Given the description of an element on the screen output the (x, y) to click on. 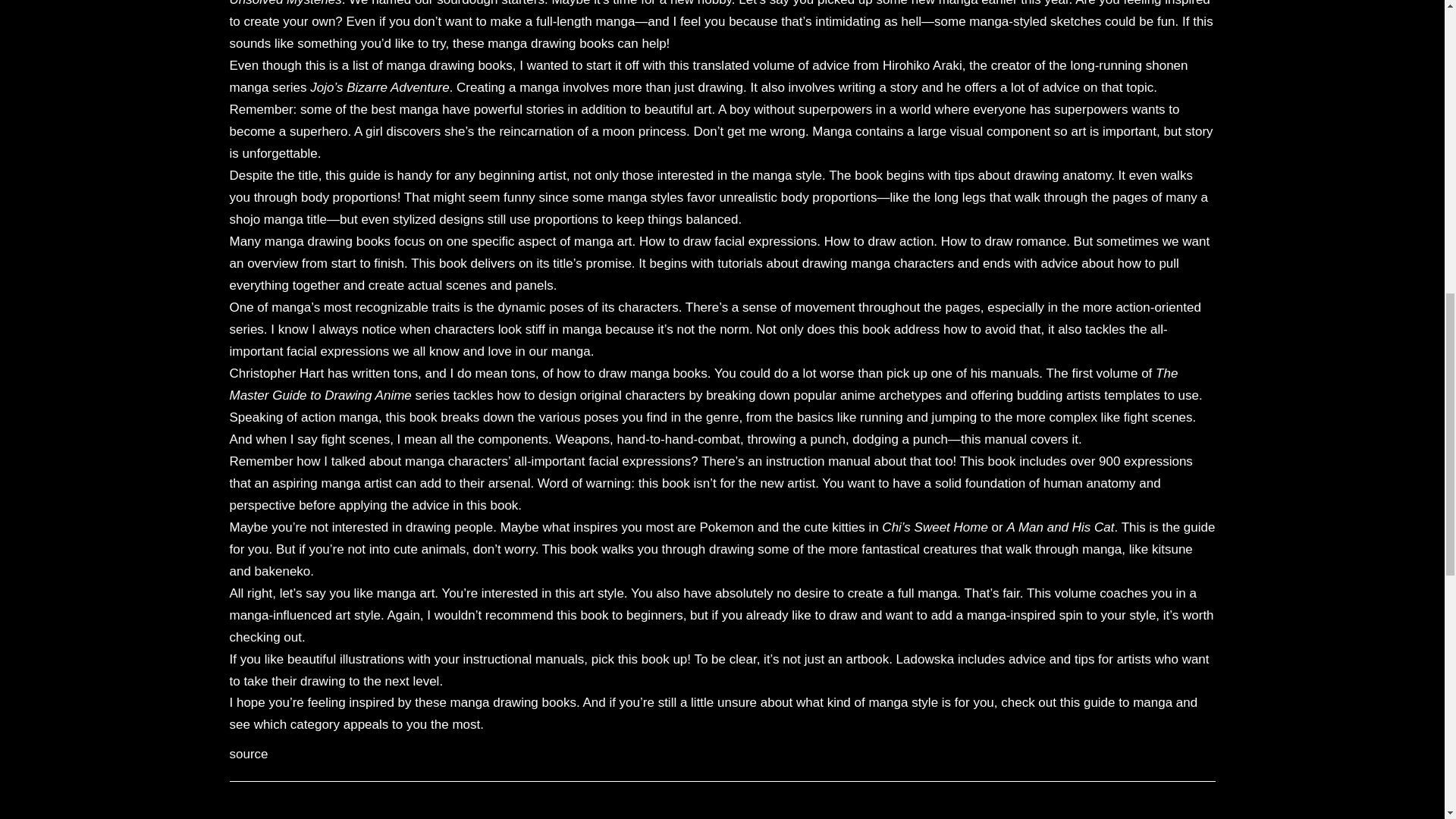
best manga (405, 109)
new manga (944, 3)
source (247, 753)
guide to manga (1127, 702)
